Given the description of an element on the screen output the (x, y) to click on. 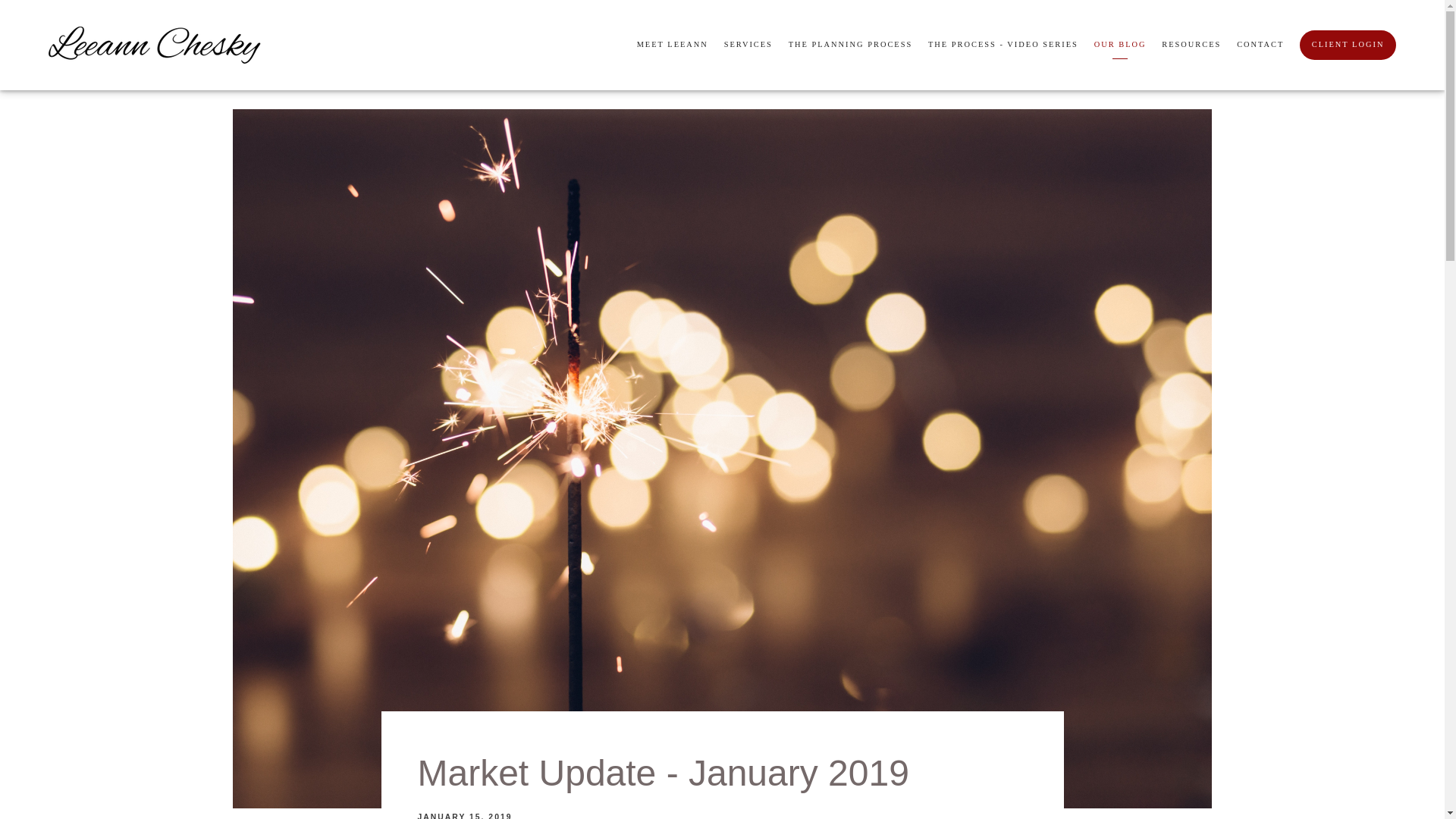
CLIENT LOGIN (1348, 44)
CONTACT (1260, 45)
THE PLANNING PROCESS (850, 45)
OUR BLOG (1120, 45)
RESOURCES (1191, 45)
SERVICES (748, 45)
MEET LEEANN (672, 45)
THE PROCESS - VIDEO SERIES (1003, 45)
